Given the description of an element on the screen output the (x, y) to click on. 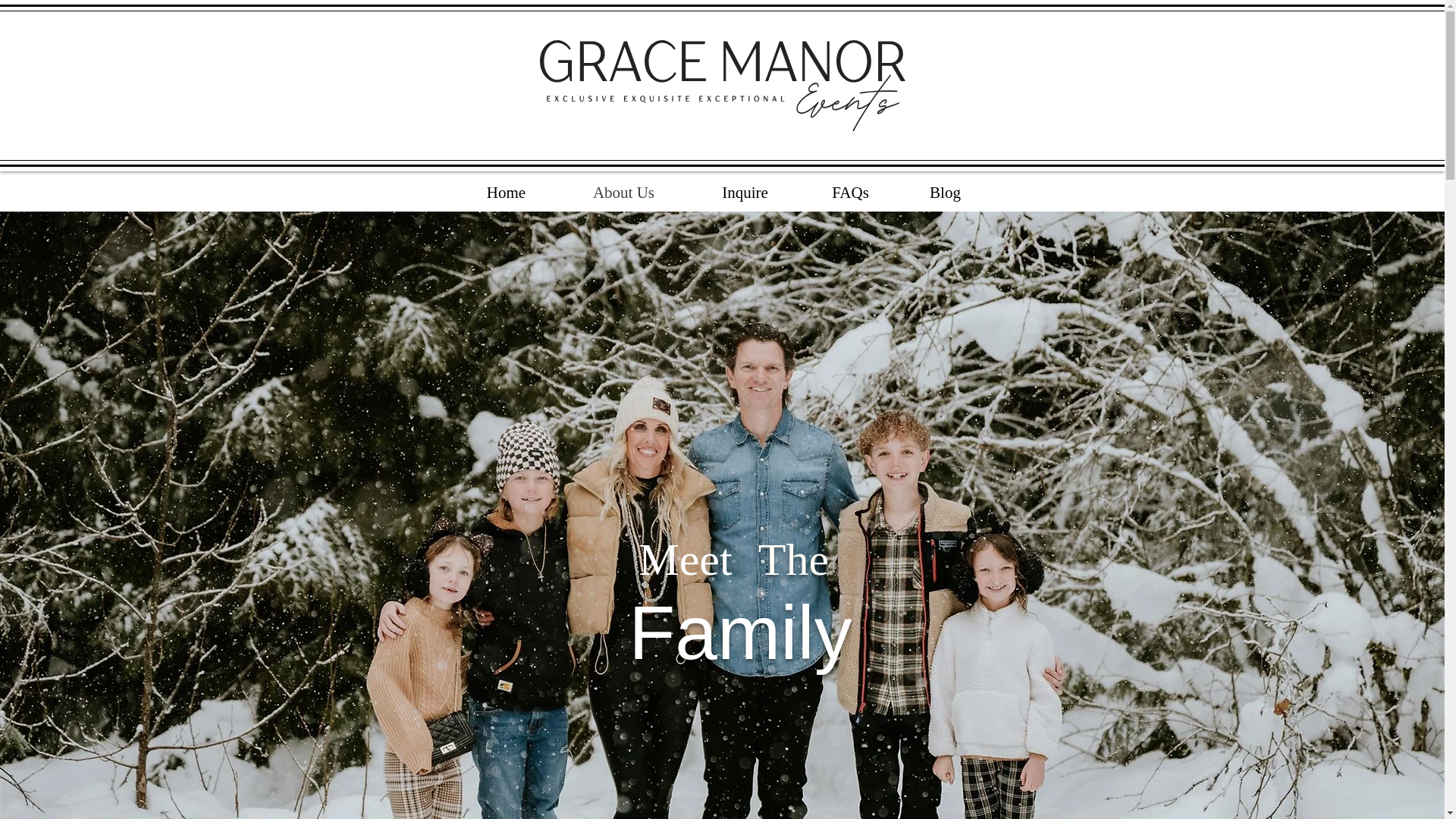
Home (504, 192)
FAQs (849, 192)
About Us (622, 192)
Blog (944, 192)
Inquire (744, 192)
